Given the description of an element on the screen output the (x, y) to click on. 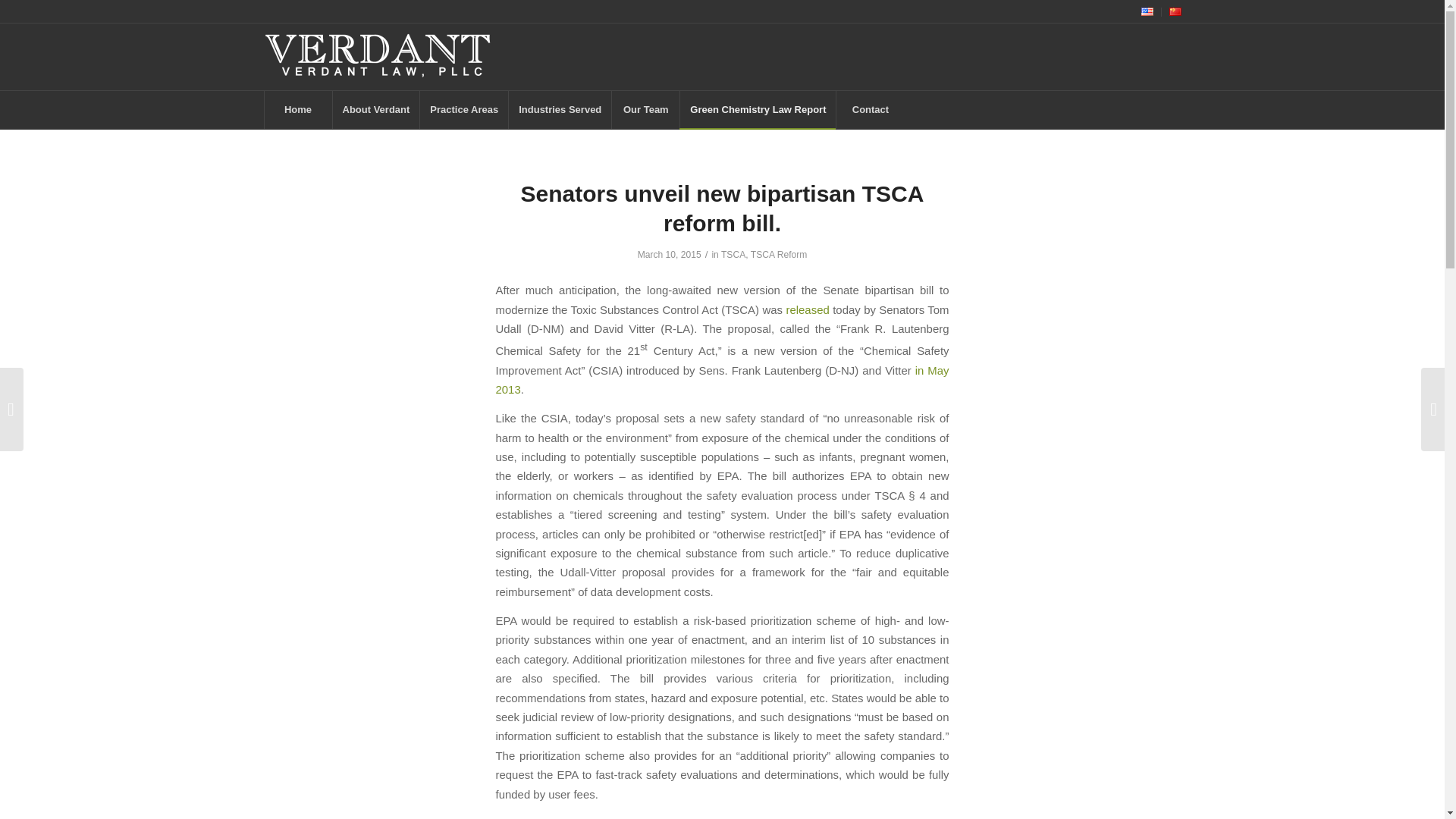
Home (297, 109)
About Verdant (375, 109)
TSCA (732, 254)
Contact (869, 109)
released (807, 309)
Our Team (645, 109)
Practice Areas (463, 109)
Industries Served (559, 109)
in May 2013 (722, 379)
Green Chemistry Law Report (757, 109)
